Given the description of an element on the screen output the (x, y) to click on. 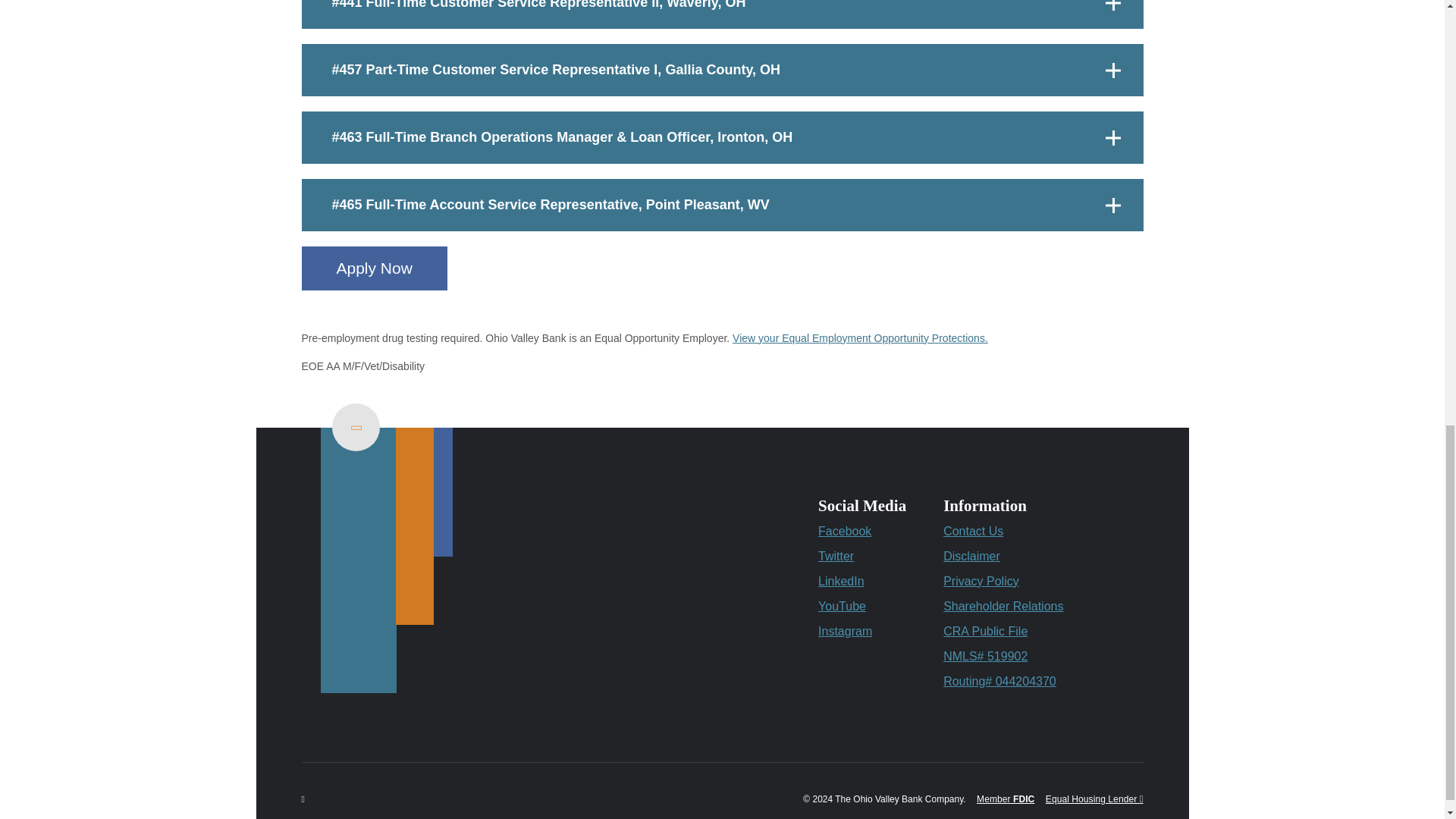
Equal Housing Lender (1093, 798)
Member FDIC (1004, 798)
